Given the description of an element on the screen output the (x, y) to click on. 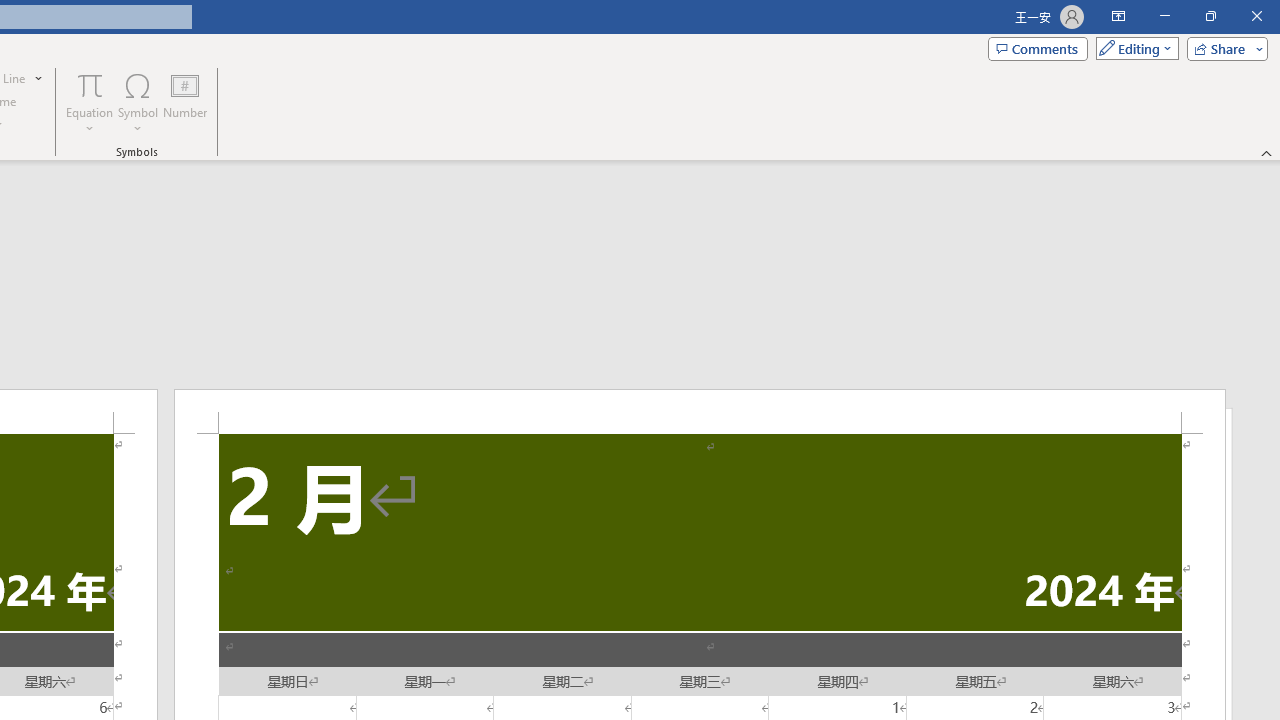
Mode (1133, 47)
Symbol (138, 102)
Equation (90, 84)
Header -Section 2- (700, 411)
Equation (90, 102)
